Given the description of an element on the screen output the (x, y) to click on. 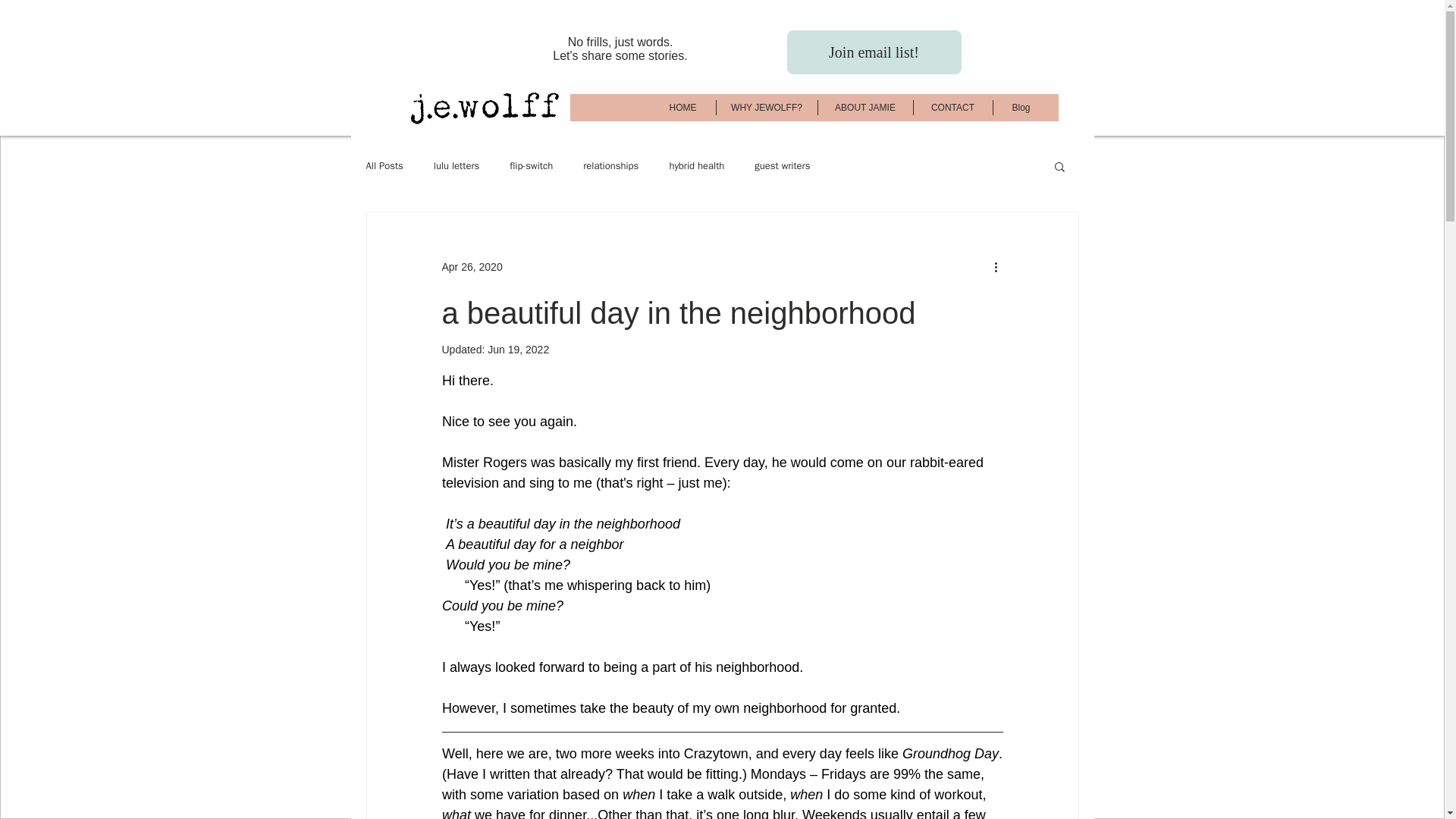
Blog (1020, 107)
Join email list! (873, 52)
All Posts (384, 165)
flip-switch (531, 165)
lulu letters (456, 165)
hybrid health (695, 165)
Apr 26, 2020 (471, 266)
relationships (611, 165)
WHY JEWOLFF? (766, 107)
guest writers (781, 165)
